Given the description of an element on the screen output the (x, y) to click on. 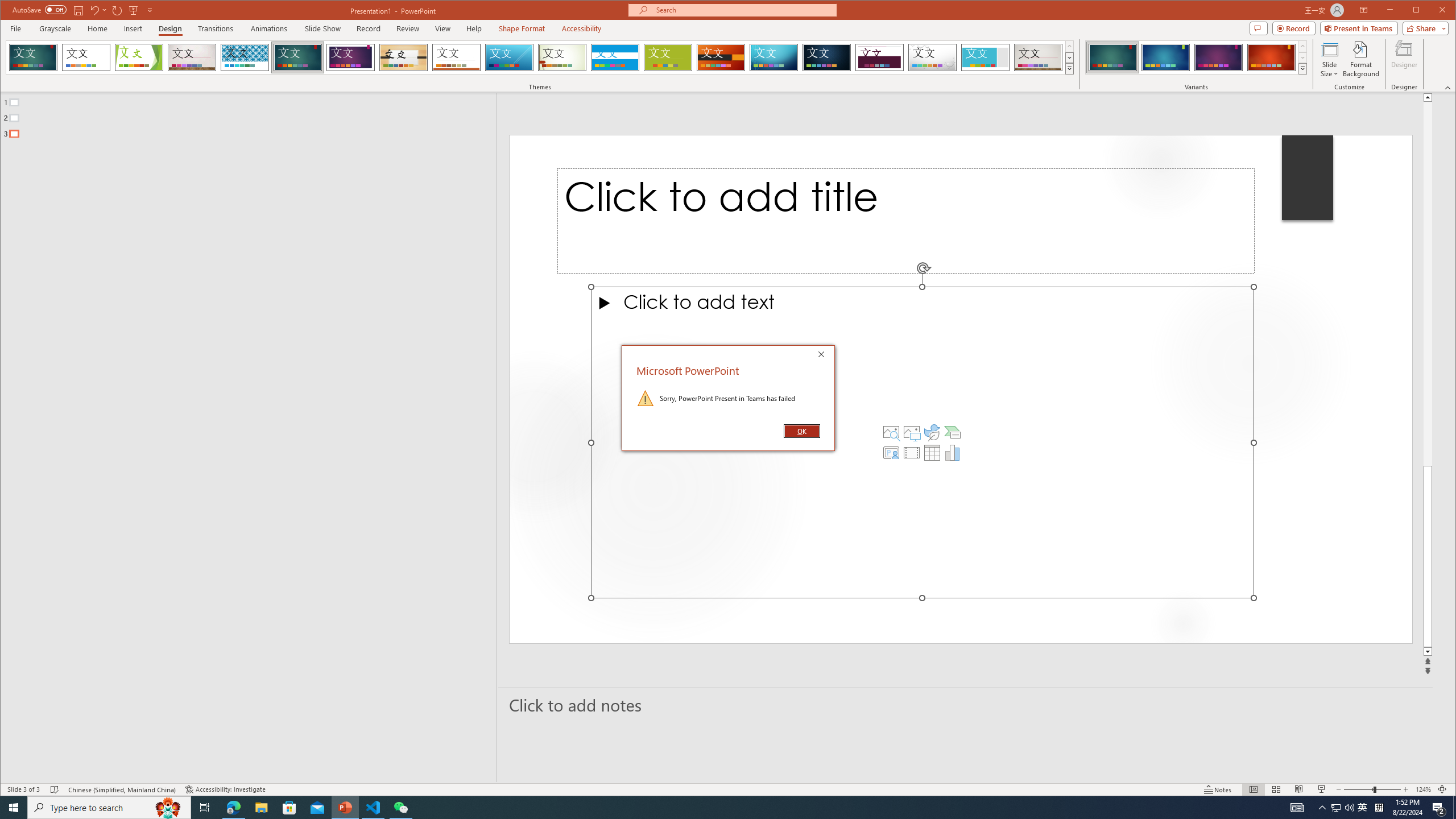
Banded (615, 57)
